Given the description of an element on the screen output the (x, y) to click on. 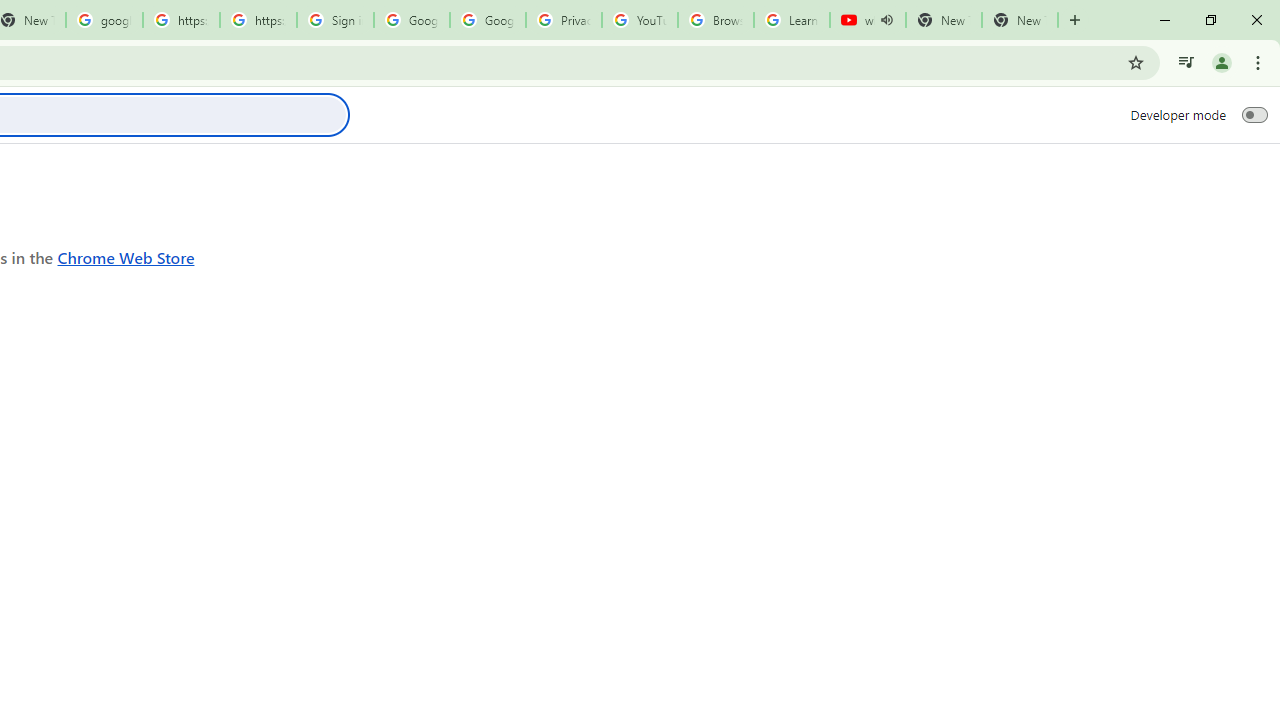
Developer mode (1254, 114)
Sign in - Google Accounts (335, 20)
https://scholar.google.com/ (181, 20)
Mute tab (886, 20)
